Given the description of an element on the screen output the (x, y) to click on. 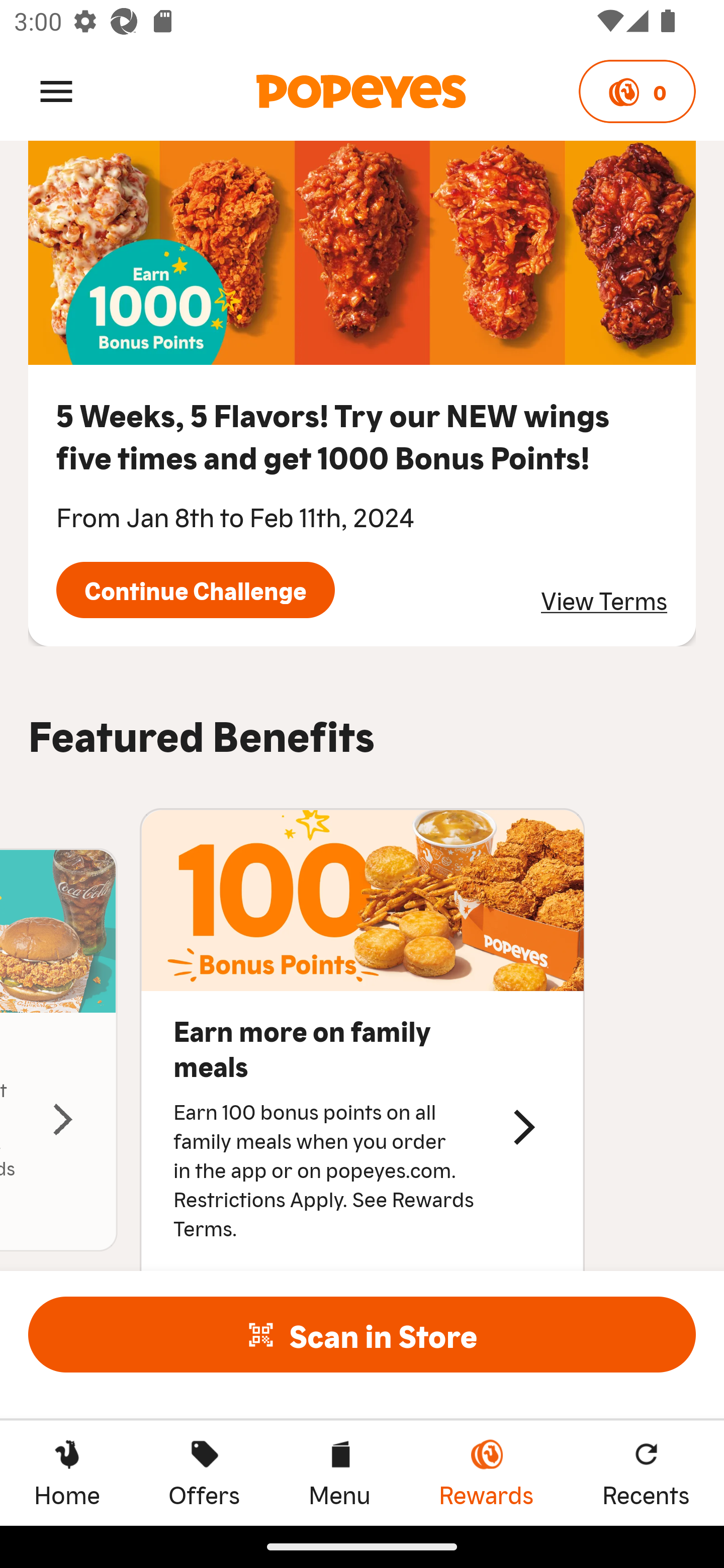
Menu  (56, 90)
0 Points 0 (636, 91)
quest image (361, 253)
Continue Challenge (195, 589)
View Terms (603, 599)
Scan in Store  Scan in Store (361, 1334)
Home Home Home (66, 1472)
Offers Offers Offers (203, 1472)
Menu Menu Menu (339, 1472)
Recents Recents Recents (646, 1472)
